Given the description of an element on the screen output the (x, y) to click on. 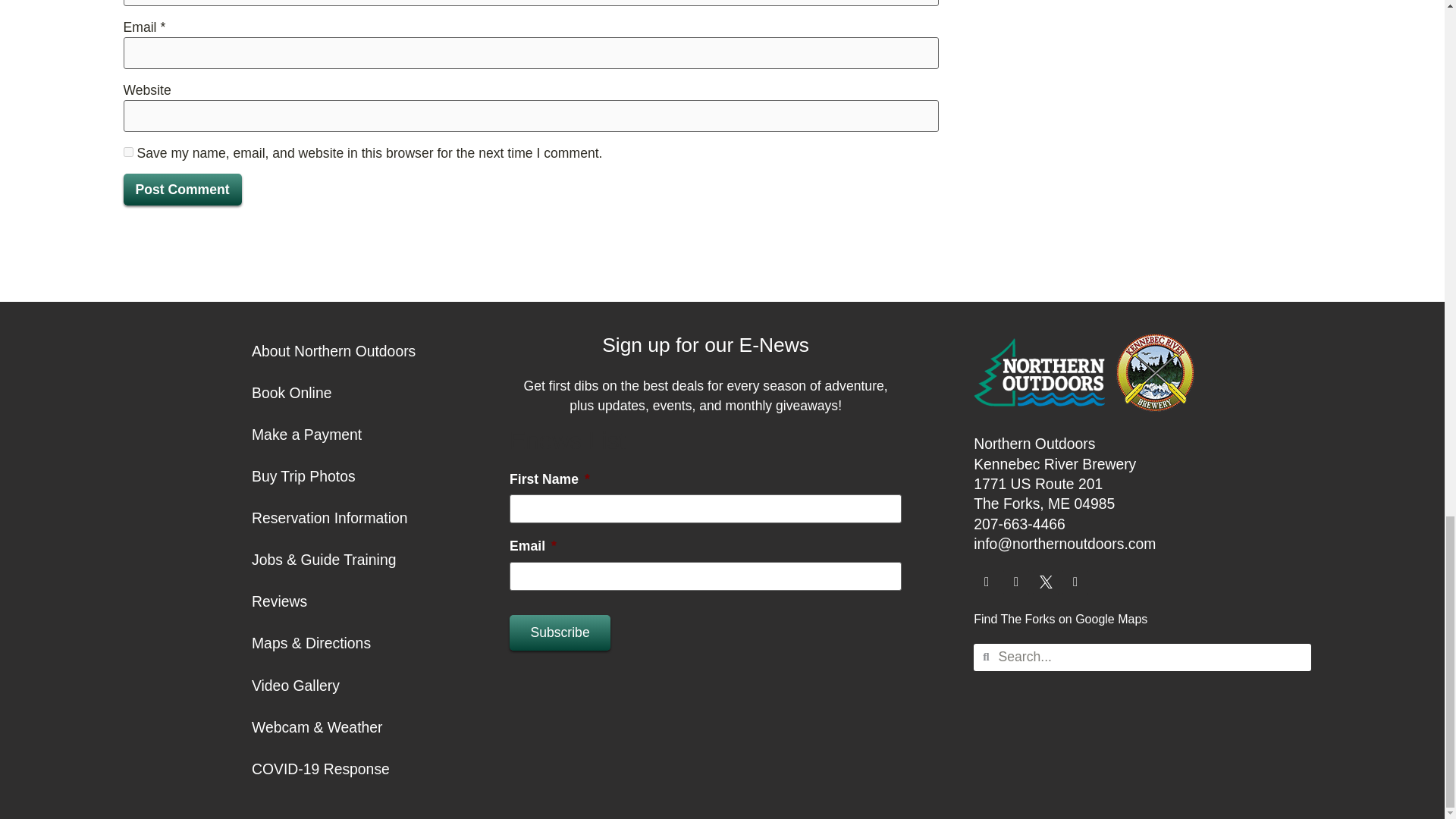
yes (127, 152)
Subscribe (559, 632)
Post Comment (181, 189)
